Given the description of an element on the screen output the (x, y) to click on. 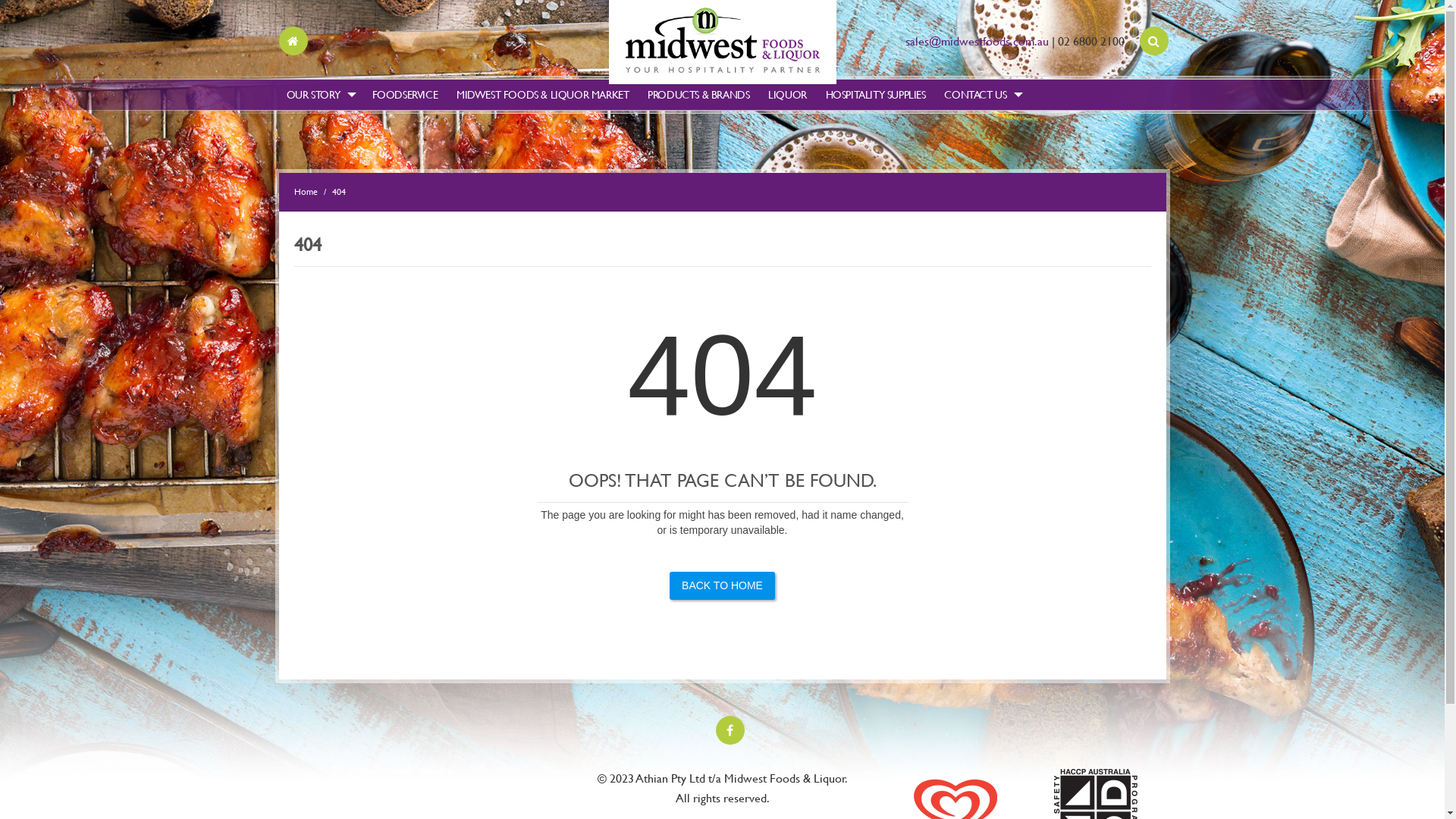
HOSPITALITY SUPPLIES Element type: text (875, 94)
CONTACT US Element type: text (981, 94)
sales@midwestfoods.com.au Element type: text (976, 41)
FOODSERVICE Element type: text (404, 94)
LIQUOR Element type: text (787, 94)
BACK TO HOME Element type: text (722, 585)
PRODUCTS & BRANDS Element type: text (698, 94)
MIDWEST FOODS & LIQUOR MARKET Element type: text (542, 94)
Home Element type: text (305, 191)
404 Element type: text (338, 191)
OUR STORY Element type: text (320, 94)
